Given the description of an element on the screen output the (x, y) to click on. 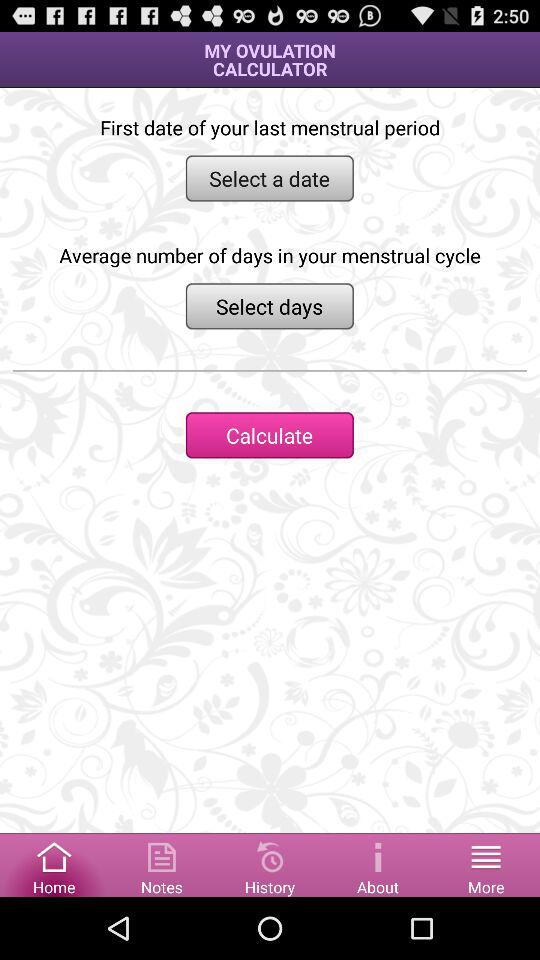
select notes tab (162, 864)
